Given the description of an element on the screen output the (x, y) to click on. 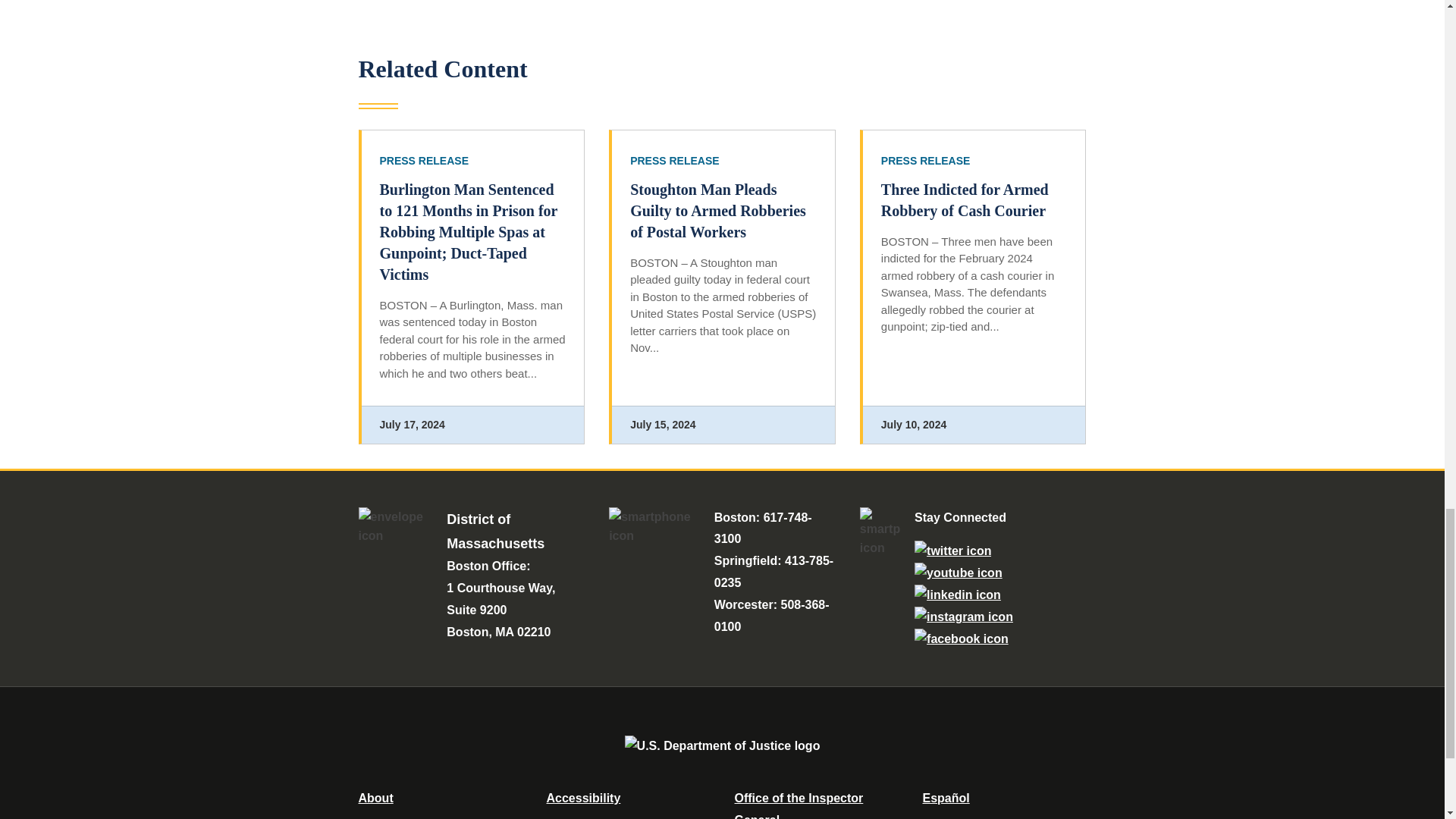
Accessibility Statement (583, 797)
About DOJ (375, 797)
